Given the description of an element on the screen output the (x, y) to click on. 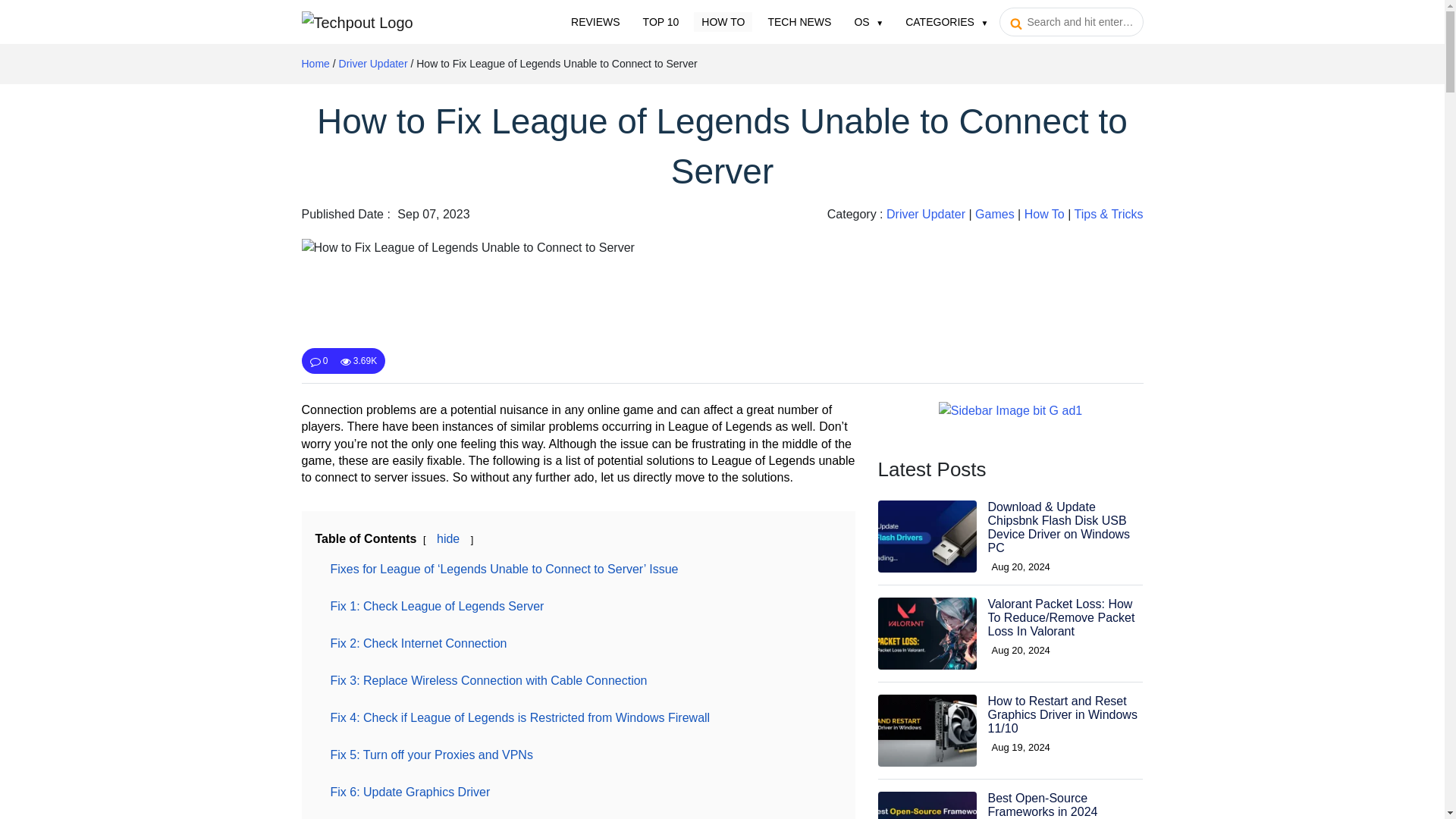
Reviews (595, 21)
OS (867, 21)
Games (994, 214)
HOW TO (723, 21)
hide (448, 538)
More Categories (946, 21)
Fix 3: Replace Wireless Connection with Cable Connection (489, 680)
Fix 6: Turn off your Antivirus Program (430, 816)
REVIEWS (595, 21)
Fix 5: Turn off your Proxies and VPNs (431, 755)
